Given the description of an element on the screen output the (x, y) to click on. 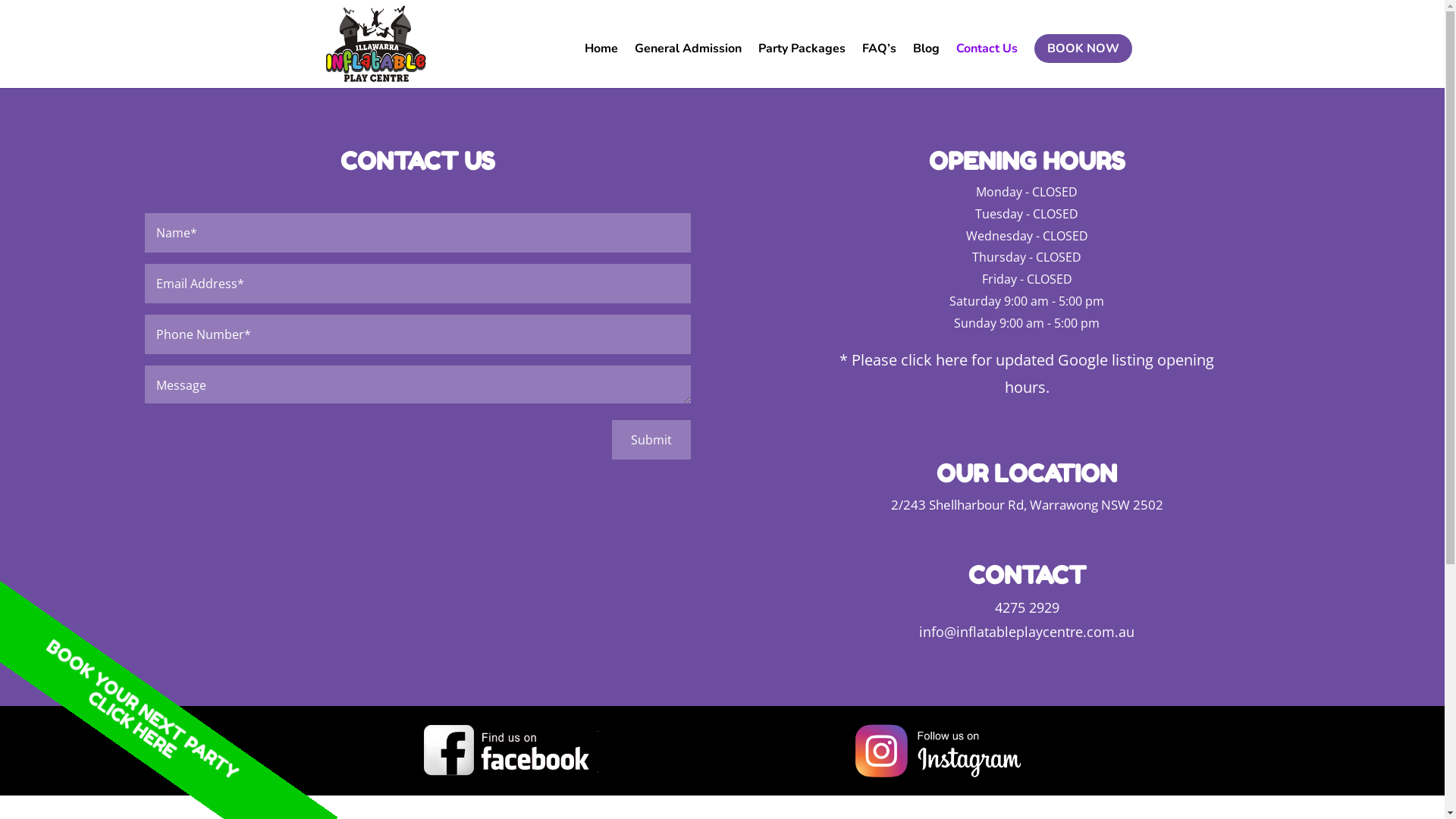
BOOK NOW Element type: text (1083, 48)
Party Packages Element type: text (801, 65)
Home Element type: text (600, 65)
4275 2929 Element type: text (1026, 607)
Blog Element type: text (926, 65)
Contact Us Element type: text (985, 65)
info@inflatableplaycentre.com.au Element type: text (1026, 631)
Submit Element type: text (650, 439)
General Admission Element type: text (686, 65)
CLICK HERE Element type: text (134, 697)
